Given the description of an element on the screen output the (x, y) to click on. 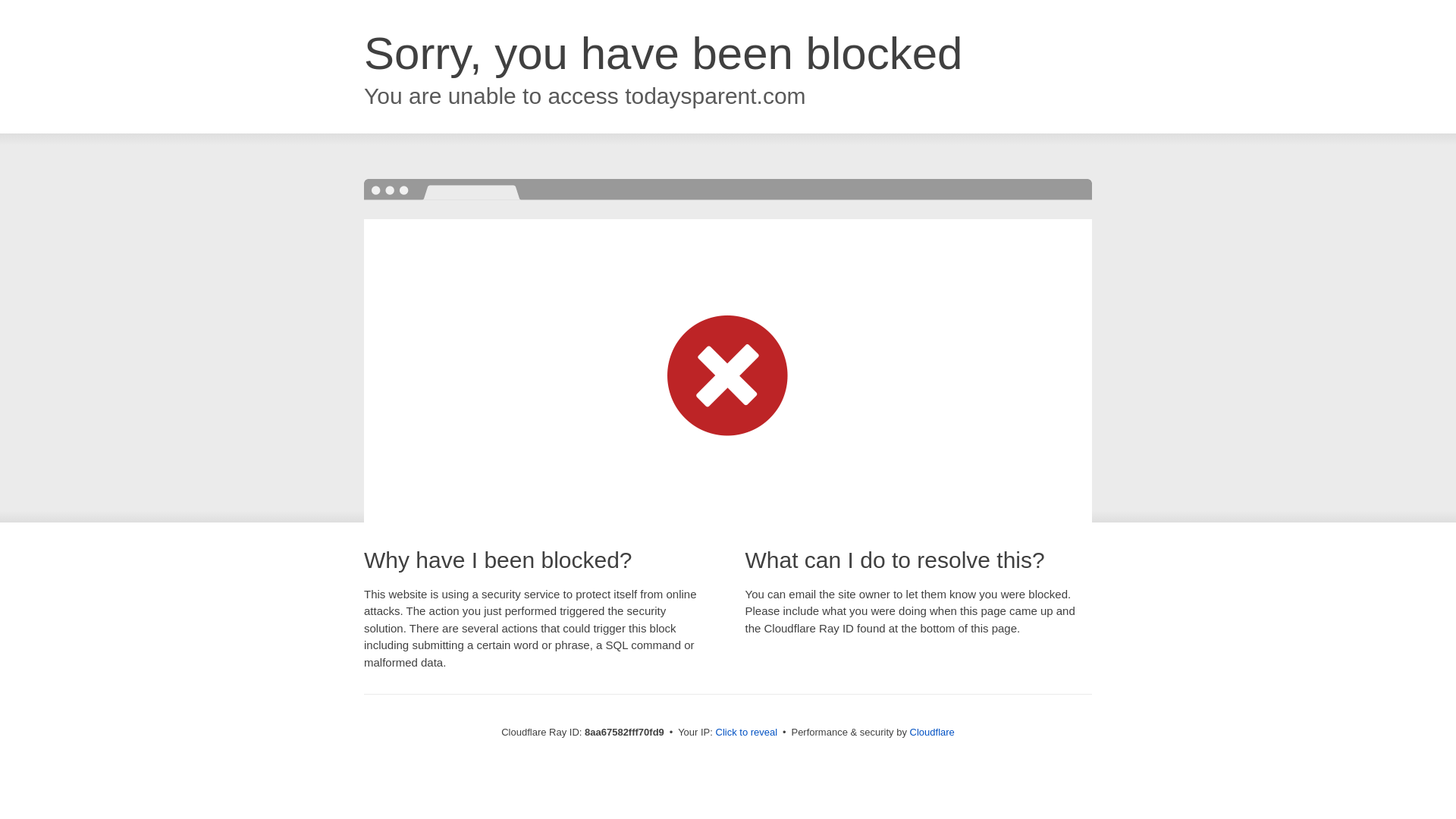
Cloudflare (932, 731)
Click to reveal (746, 732)
